Given the description of an element on the screen output the (x, y) to click on. 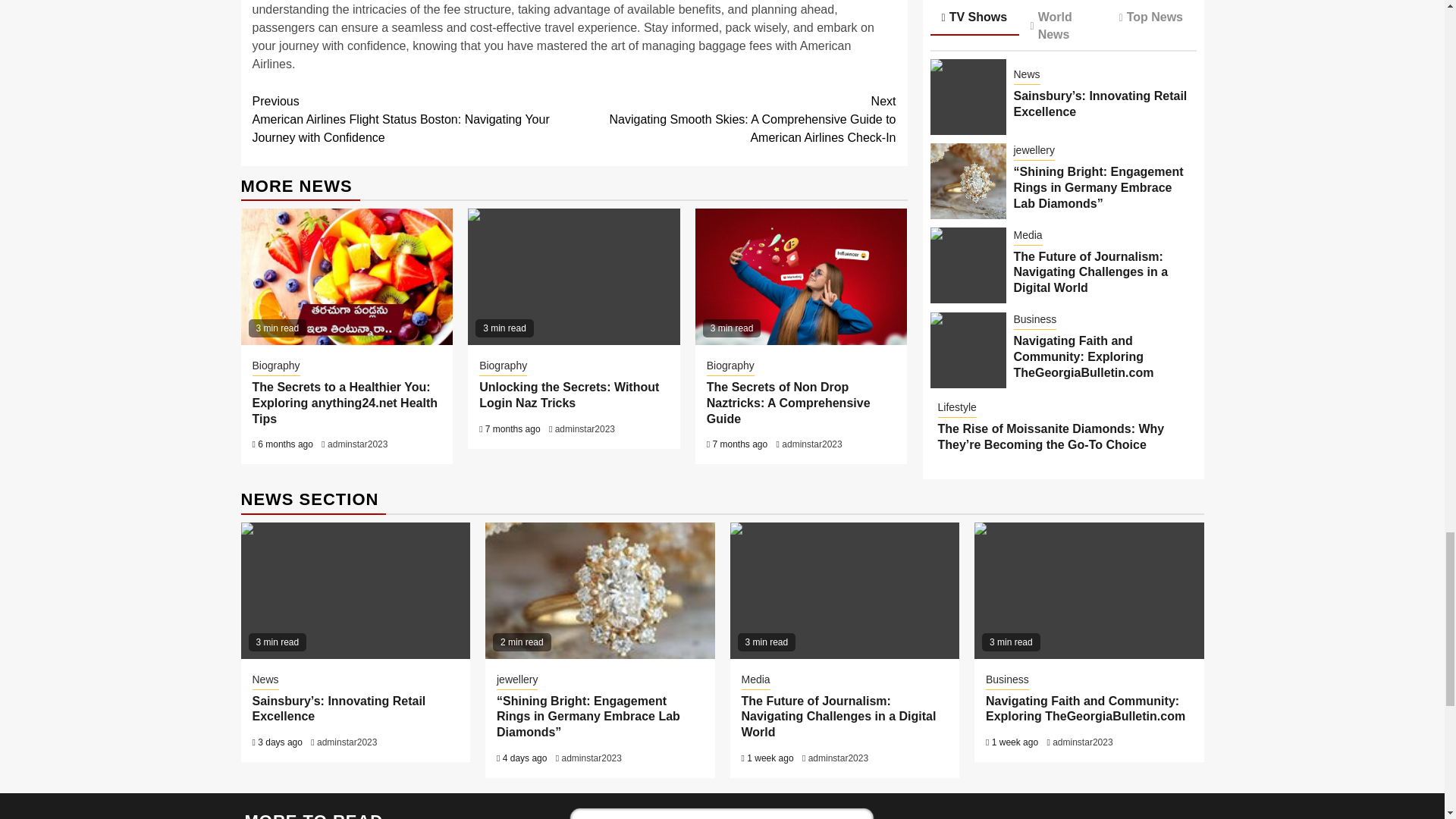
Biography (275, 366)
adminstar2023 (357, 443)
Biography (503, 366)
adminstar2023 (584, 429)
Unlocking the Secrets: Without Login Naz Tricks (569, 394)
anything24.net health tips (346, 276)
non drop naztricks (801, 276)
without login naz tricks (573, 276)
